Given the description of an element on the screen output the (x, y) to click on. 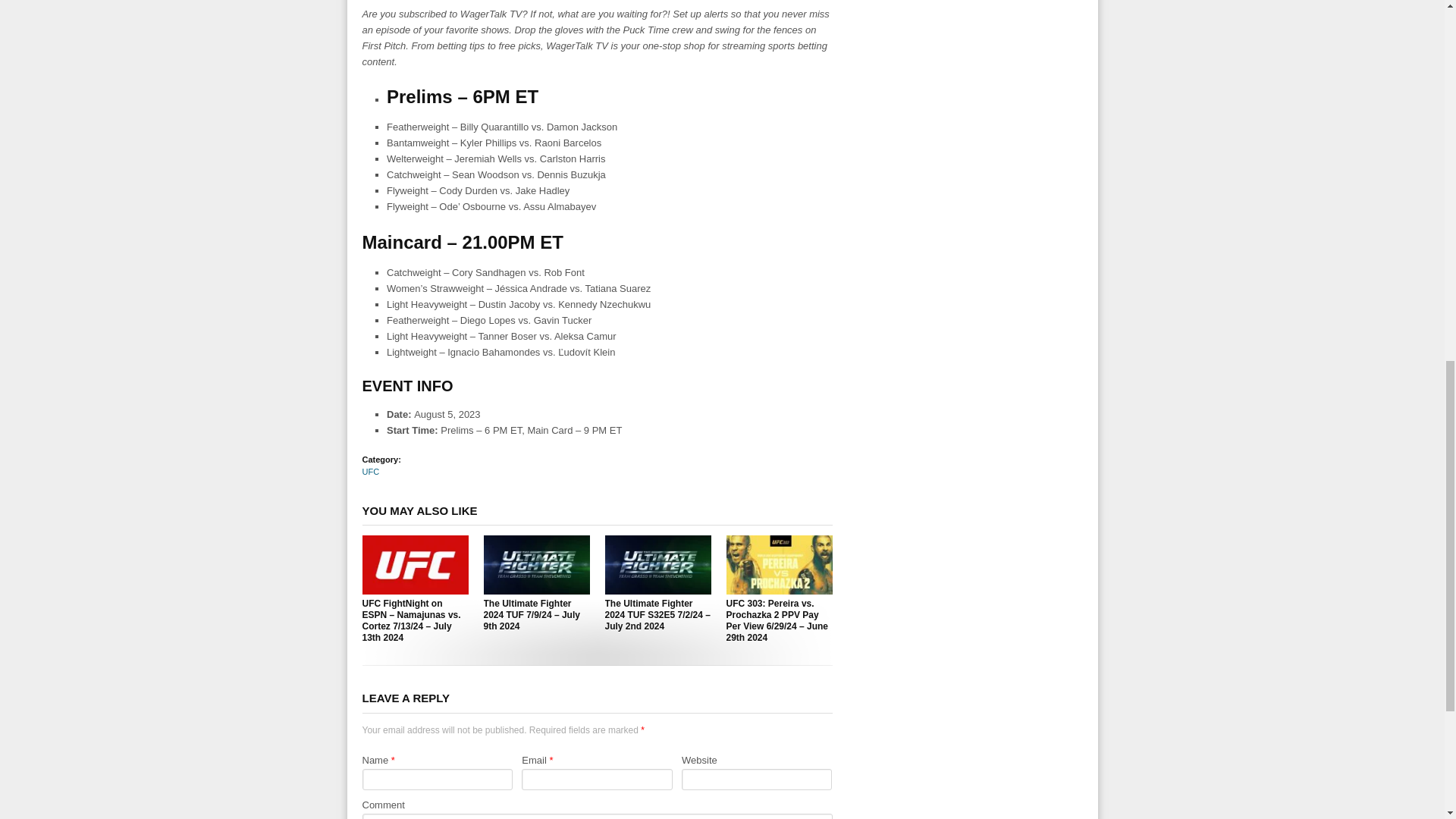
UFC (371, 470)
